Given the description of an element on the screen output the (x, y) to click on. 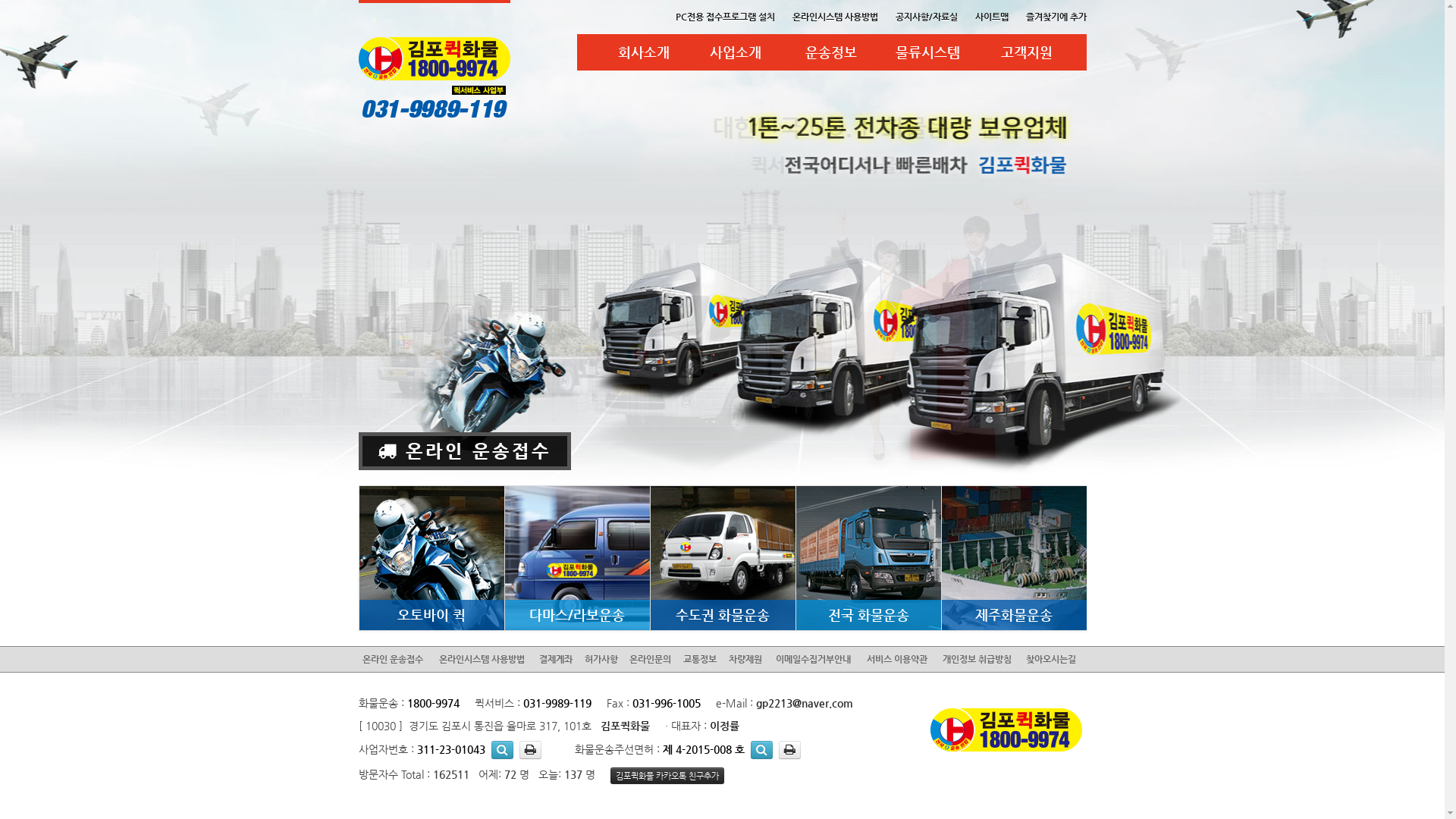
gp2213@naver.com Element type: text (803, 702)
